Given the description of an element on the screen output the (x, y) to click on. 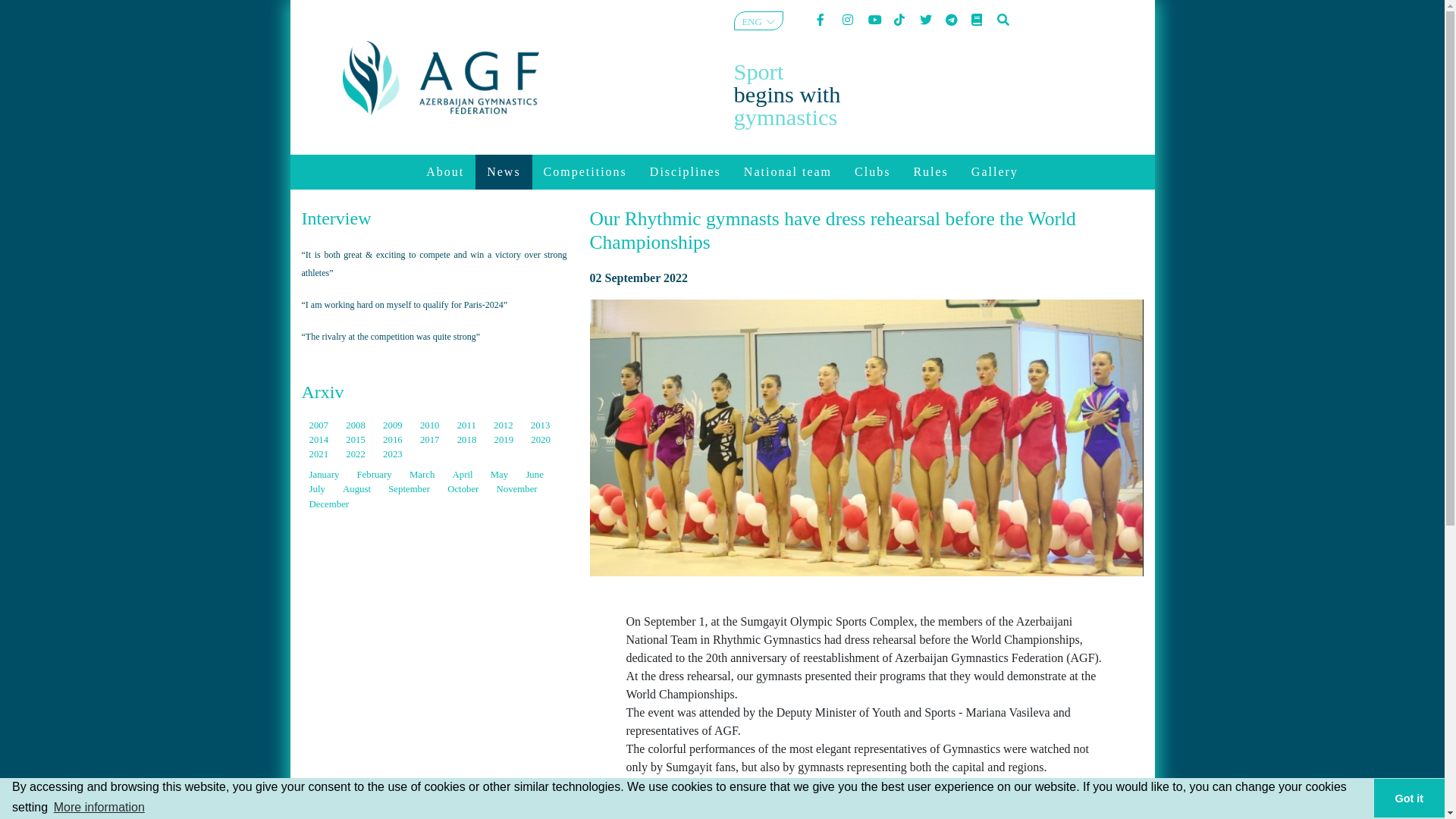
Gallery Element type: text (994, 171)
2008 Element type: text (356, 425)
2021 Element type: text (320, 453)
2016 Element type: text (393, 439)
September Element type: text (410, 488)
2019 Element type: text (504, 439)
2009 Element type: text (393, 425)
January Element type: text (325, 474)
November Element type: text (516, 488)
Got it Element type: text (1409, 797)
October Element type: text (463, 488)
December Element type: text (329, 503)
June Element type: text (533, 474)
2013 Element type: text (540, 425)
2023 Element type: text (392, 453)
March Element type: text (423, 474)
February Element type: text (374, 474)
AZE Element type: text (750, 36)
August Element type: text (357, 488)
2007 Element type: text (320, 425)
2012 Element type: text (504, 425)
National team Element type: text (787, 171)
2020 Element type: text (540, 439)
2018 Element type: text (468, 439)
2014 Element type: text (320, 439)
July Element type: text (318, 488)
Clubs Element type: text (872, 171)
Interview Element type: text (336, 218)
2015 Element type: text (356, 439)
2010 Element type: text (431, 425)
RUS Element type: text (750, 50)
2011 Element type: text (467, 425)
2017 Element type: text (431, 439)
About Element type: text (444, 171)
May Element type: text (500, 474)
April Element type: text (463, 474)
Competitions Element type: text (585, 171)
Rules Element type: text (930, 171)
Disciplines Element type: text (685, 171)
News Element type: text (503, 171)
2022 Element type: text (356, 453)
